Given the description of an element on the screen output the (x, y) to click on. 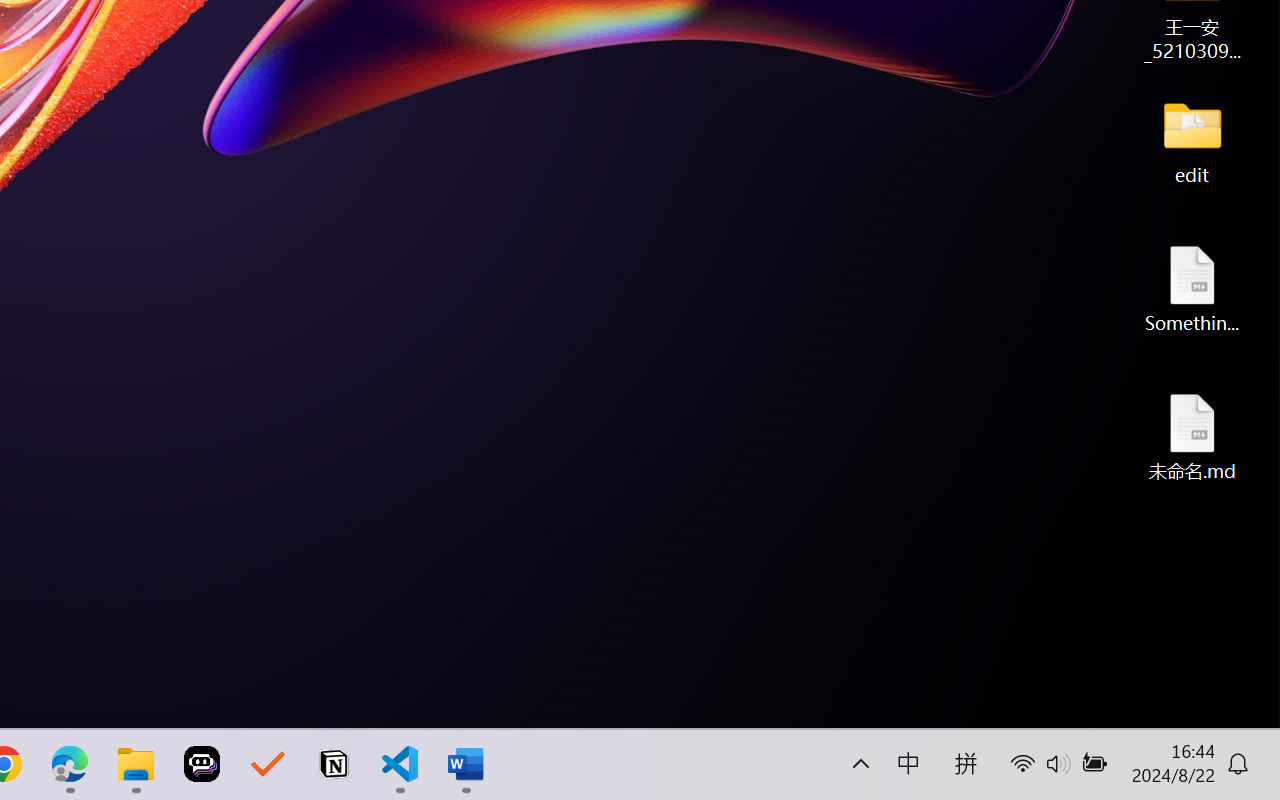
Something.md (1192, 288)
edit (1192, 140)
